Given the description of an element on the screen output the (x, y) to click on. 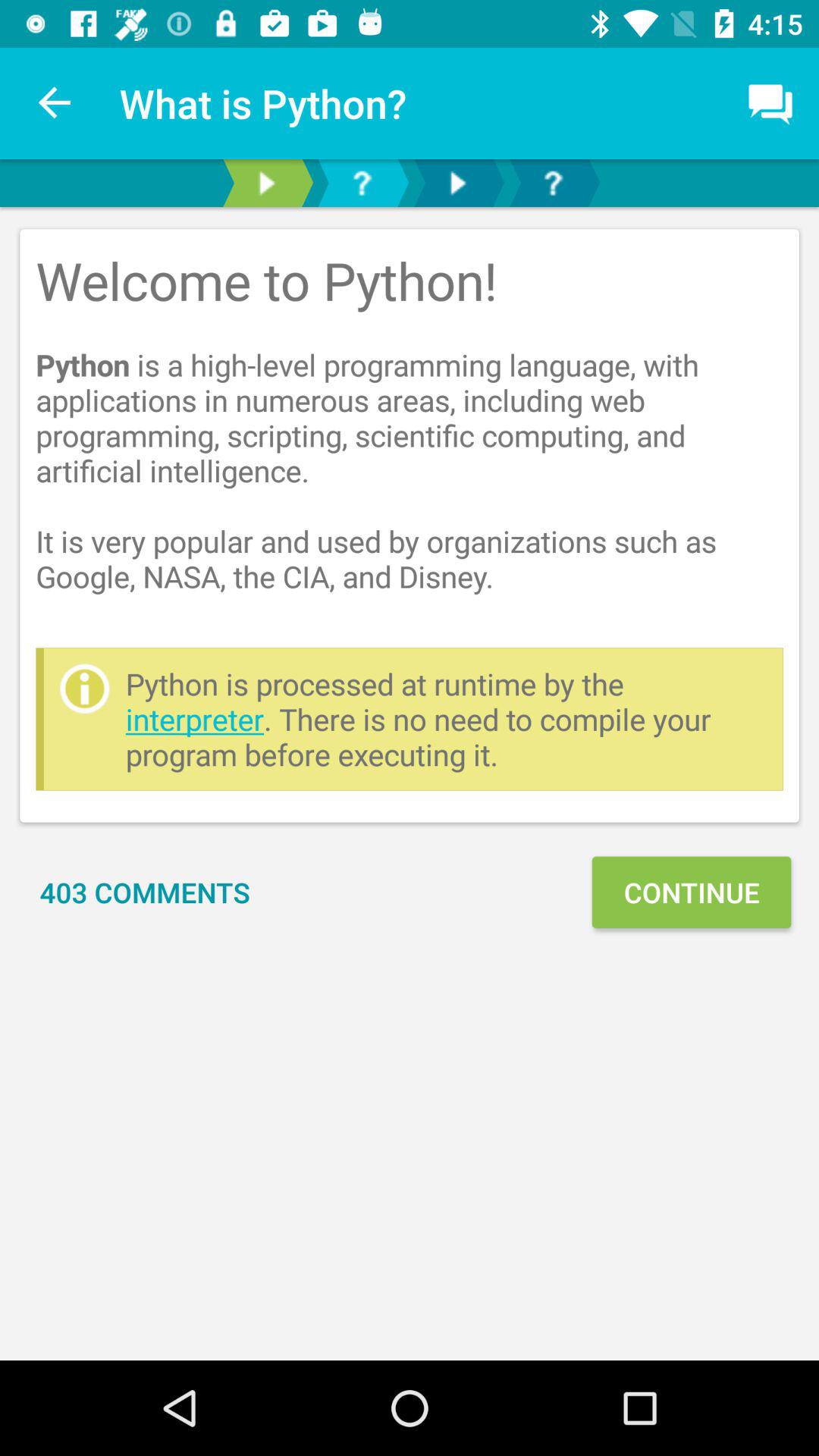
move to next page (457, 183)
